Given the description of an element on the screen output the (x, y) to click on. 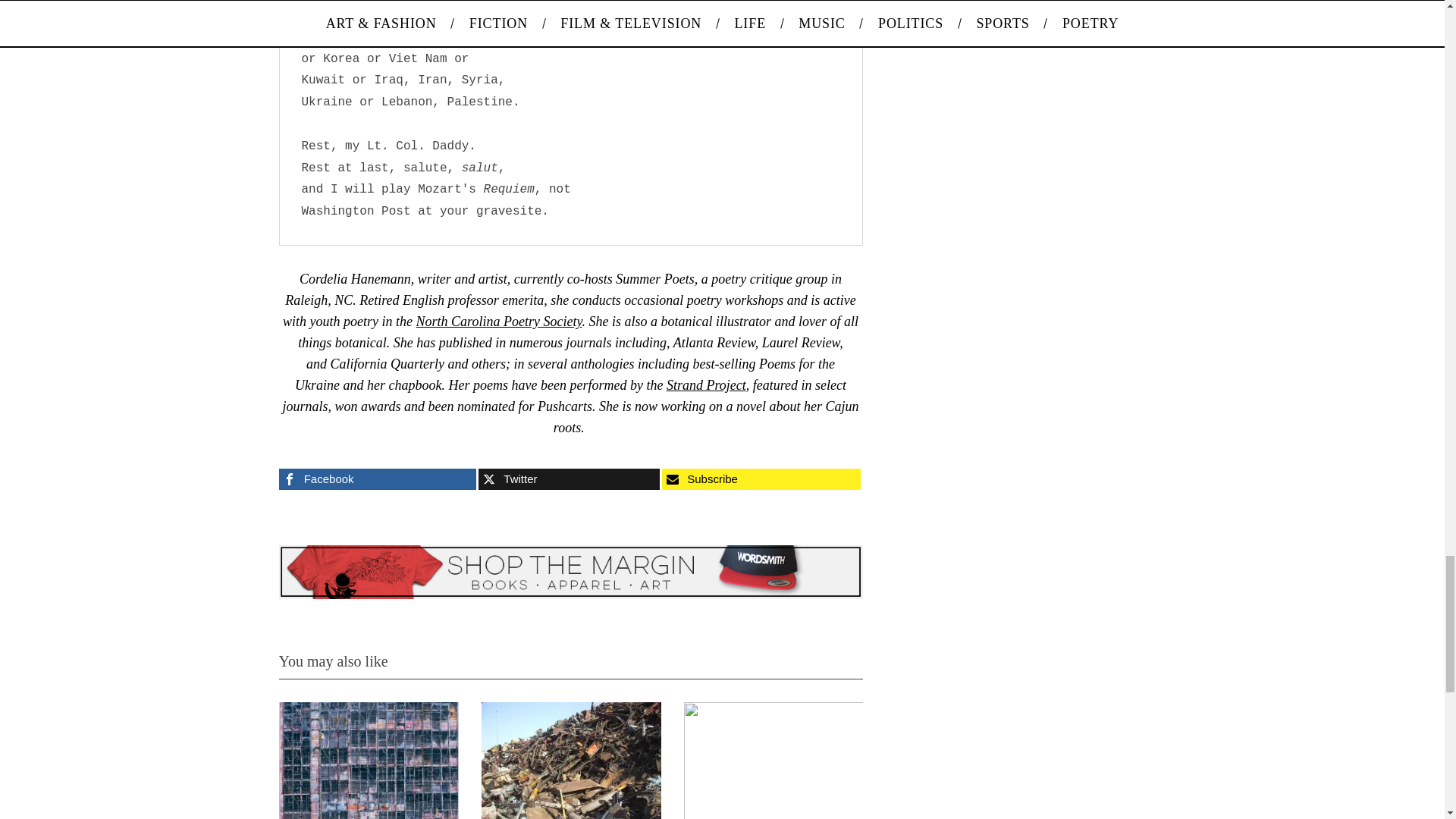
Strand Project (705, 385)
North Carolina Poetry Society (499, 321)
Subscribe (761, 478)
Twitter (569, 478)
Facebook (378, 478)
